Given the description of an element on the screen output the (x, y) to click on. 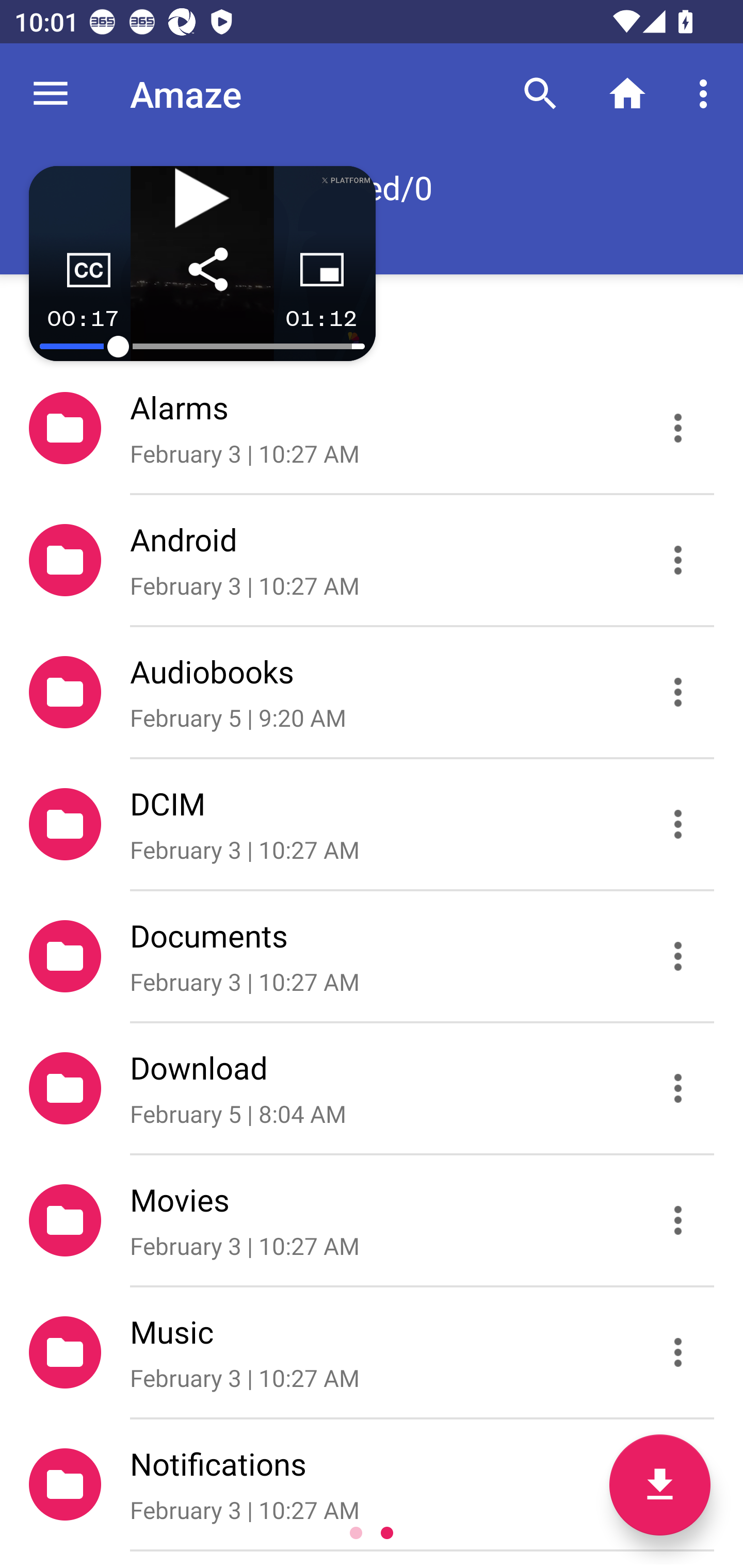
Navigate up (50, 93)
Search (540, 93)
Home (626, 93)
More options (706, 93)
Alarms February 3 | 10:27 AM (371, 427)
Android February 3 | 10:27 AM (371, 560)
Audiobooks February 5 | 9:20 AM (371, 692)
DCIM February 3 | 10:27 AM (371, 823)
Documents February 3 | 10:27 AM (371, 955)
Download February 5 | 8:04 AM (371, 1088)
Movies February 3 | 10:27 AM (371, 1220)
Music February 3 | 10:27 AM (371, 1352)
Notifications February 3 | 10:27 AM (371, 1484)
